Given the description of an element on the screen output the (x, y) to click on. 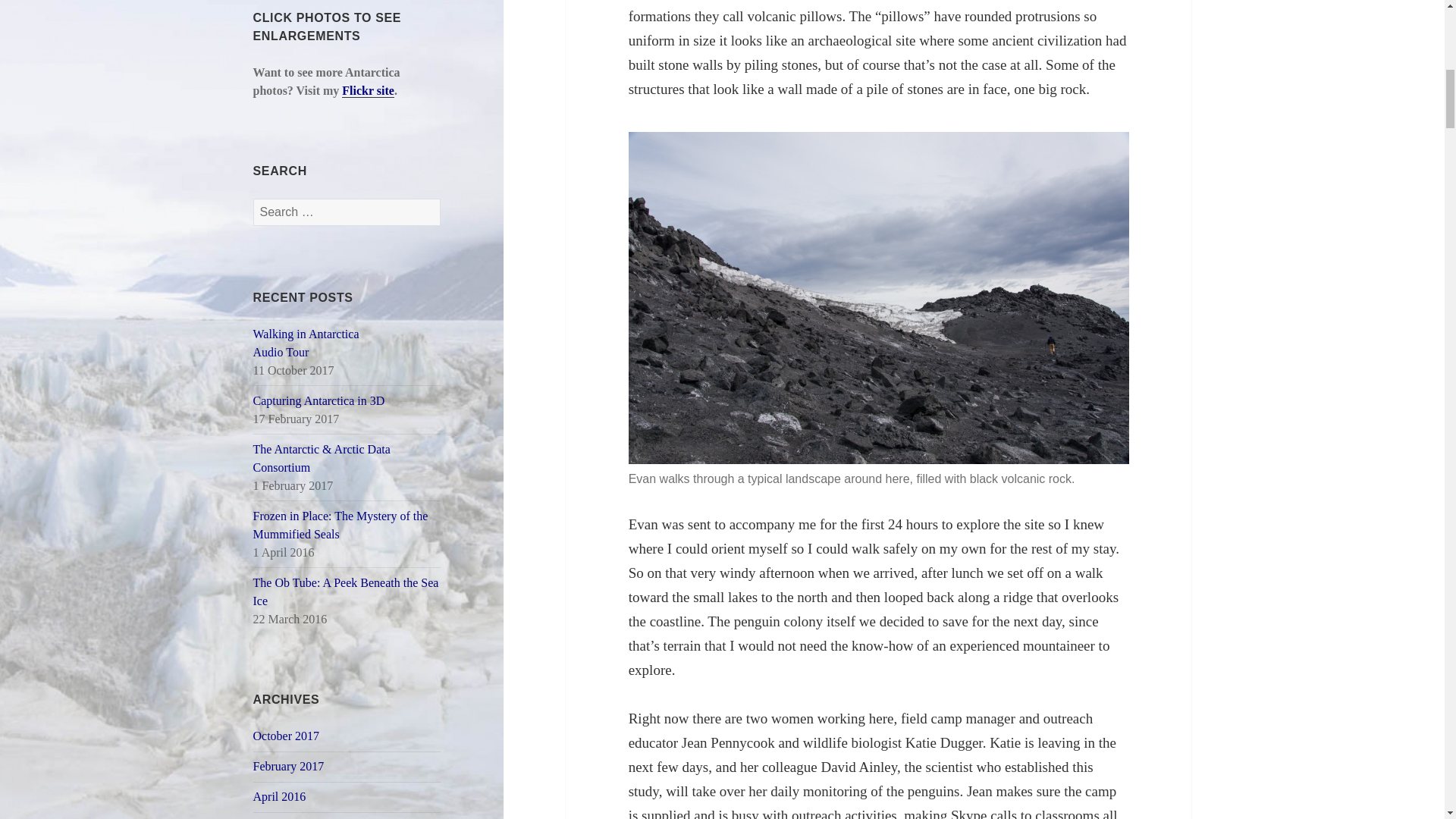
Capturing Antarctica in 3D (319, 400)
The Ob Tube: A Peek Beneath the Sea Ice (346, 591)
Frozen in Place: The Mystery of the Mummified Seals (340, 524)
Flickr site (368, 90)
October 2017 (306, 342)
April 2016 (286, 735)
February 2017 (279, 796)
